Given the description of an element on the screen output the (x, y) to click on. 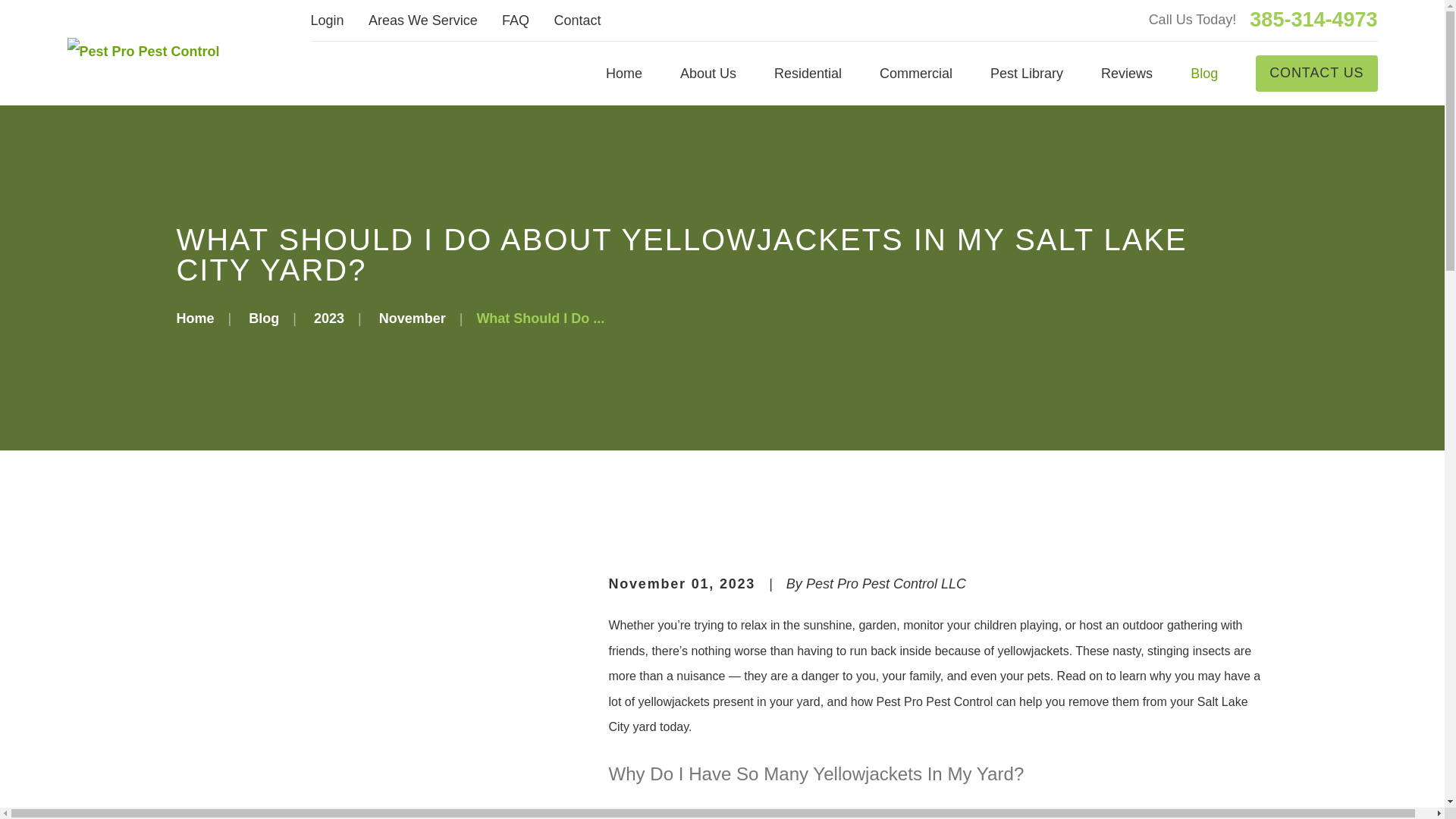
About Us (707, 73)
Residential (807, 73)
Pest Pro Pest Control (142, 51)
Pest Library (1026, 73)
Contact (576, 20)
Areas We Service (422, 20)
Reviews (1126, 73)
FAQ (515, 20)
Home (142, 52)
Commercial (915, 73)
Go Home (195, 318)
385-314-4973 (1313, 19)
Home (623, 73)
Login (327, 20)
